Given the description of an element on the screen output the (x, y) to click on. 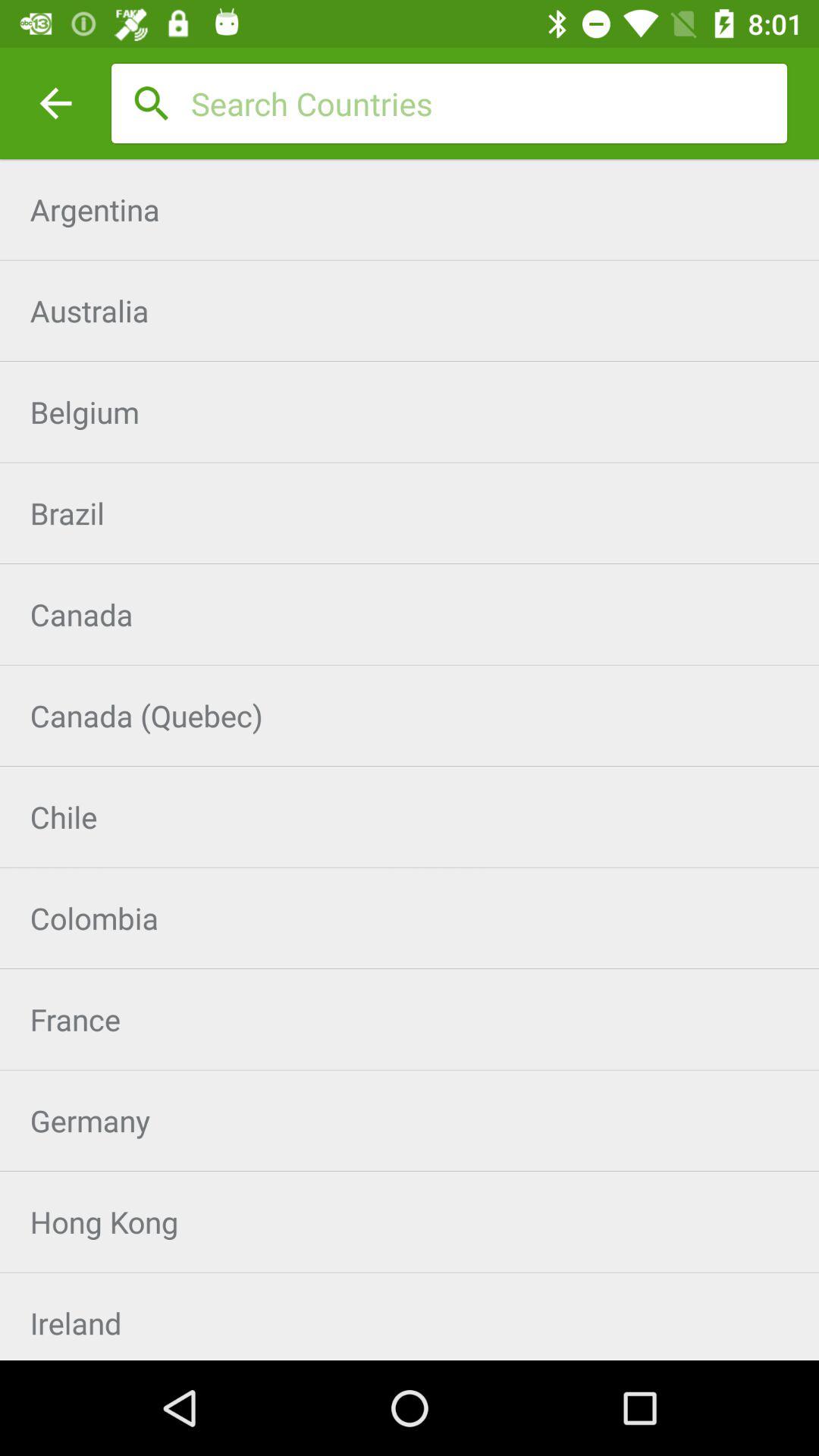
swipe to the germany icon (409, 1120)
